Given the description of an element on the screen output the (x, y) to click on. 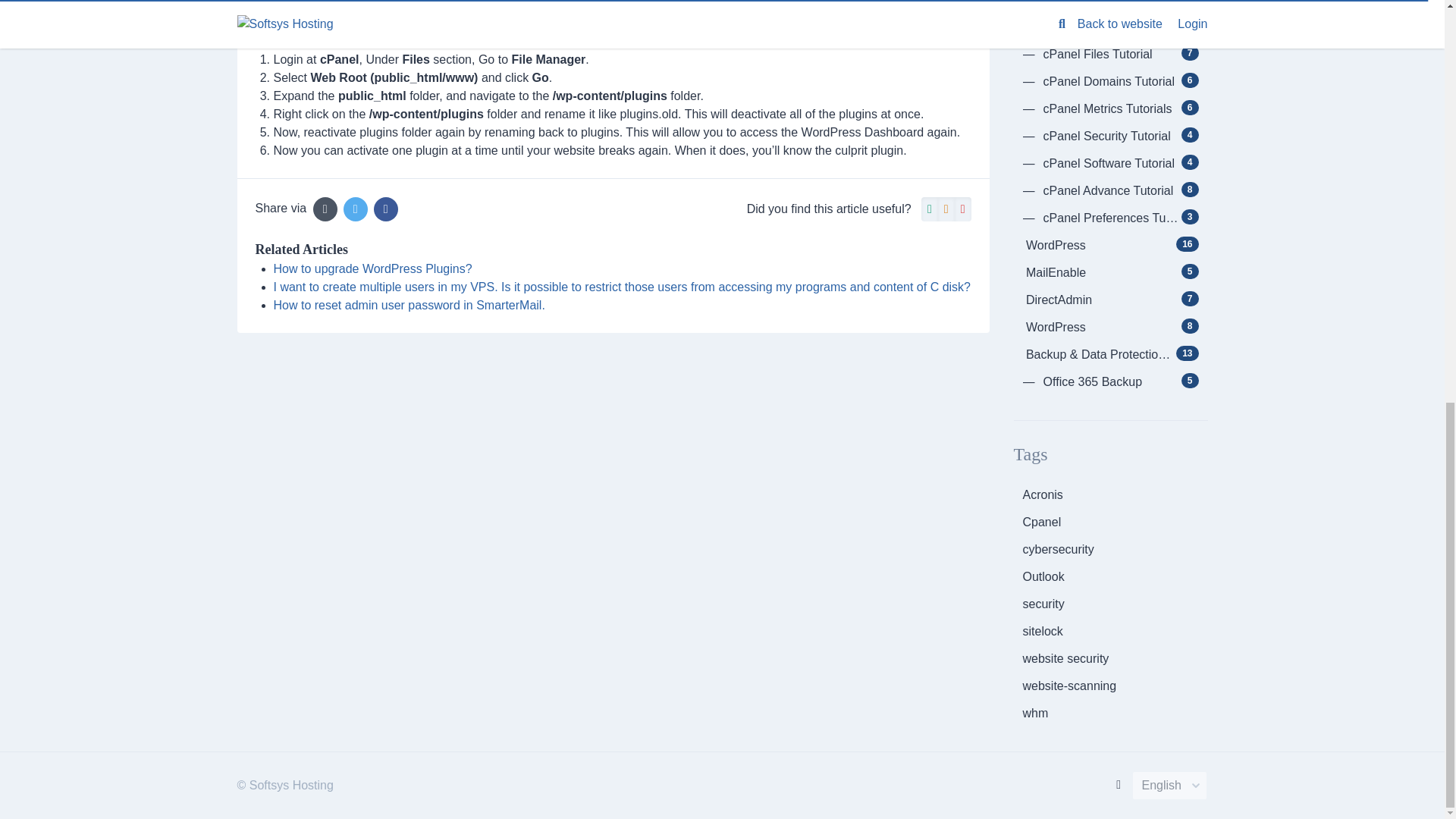
How to upgrade WordPress Plugins? (372, 268)
How to reset admin user password in SmarterMail. (408, 305)
